Given the description of an element on the screen output the (x, y) to click on. 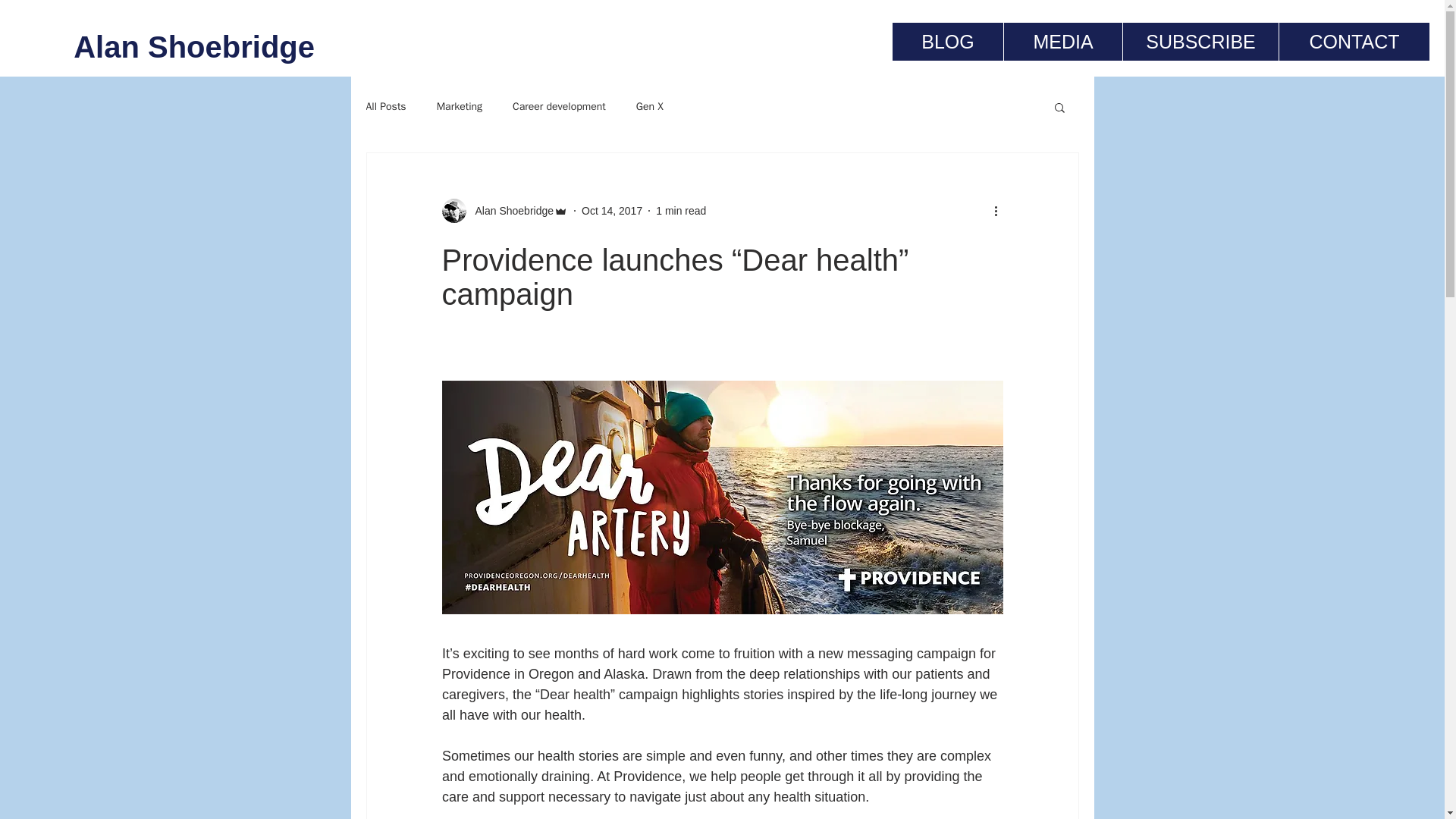
Marketing (458, 106)
Oct 14, 2017 (611, 210)
SUBSCRIBE (1200, 41)
CONTACT (1353, 41)
BLOG (947, 41)
MEDIA (1062, 41)
Alan Shoebridge (509, 211)
1 min read (681, 210)
Alan Shoebridge (164, 46)
Gen X (649, 106)
All Posts (385, 106)
Career development (558, 106)
